Given the description of an element on the screen output the (x, y) to click on. 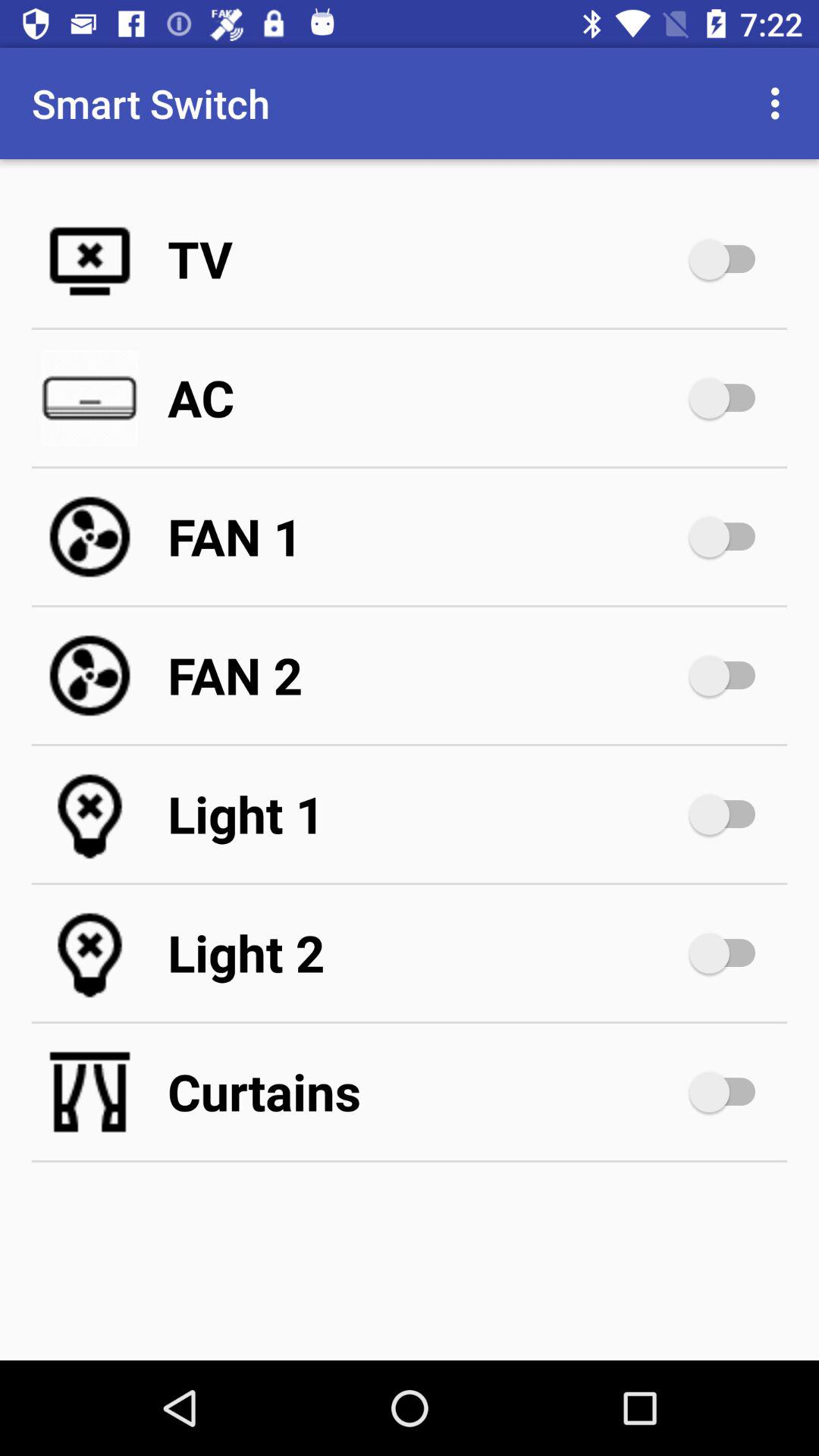
select the tv icon (424, 259)
